Given the description of an element on the screen output the (x, y) to click on. 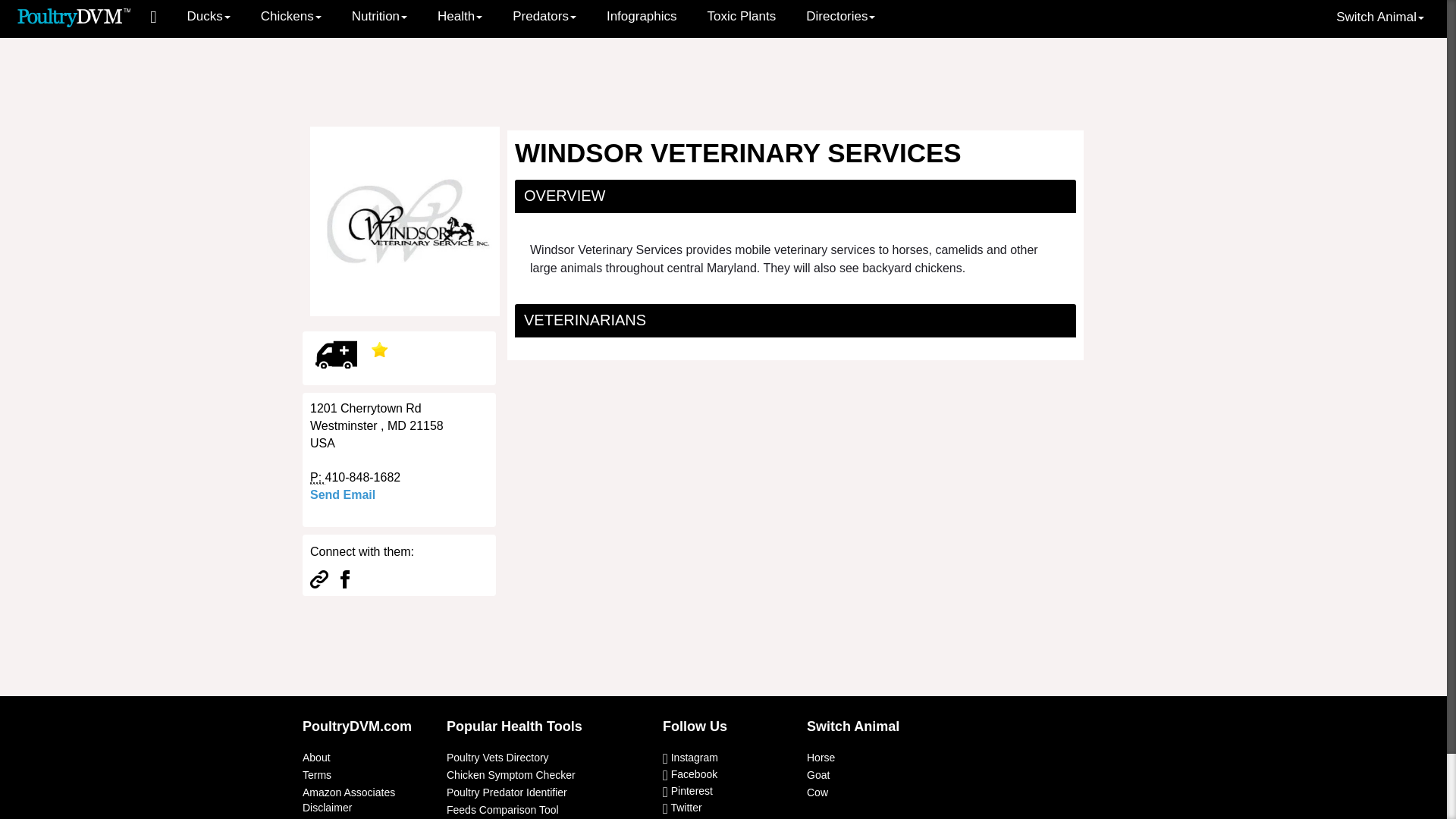
Send Email (342, 494)
Nutrition (379, 16)
Toxic Plants (742, 16)
Directories (839, 16)
Ducks (208, 16)
Chickens (291, 16)
OVERVIEW (564, 195)
Toxic Plants to Chickens (742, 16)
Switch Animal (1379, 17)
Infographics (642, 16)
Predators (544, 16)
PoultryDVM Logo (74, 15)
Chicken and Duck Infographics (642, 16)
Health (459, 16)
